Given the description of an element on the screen output the (x, y) to click on. 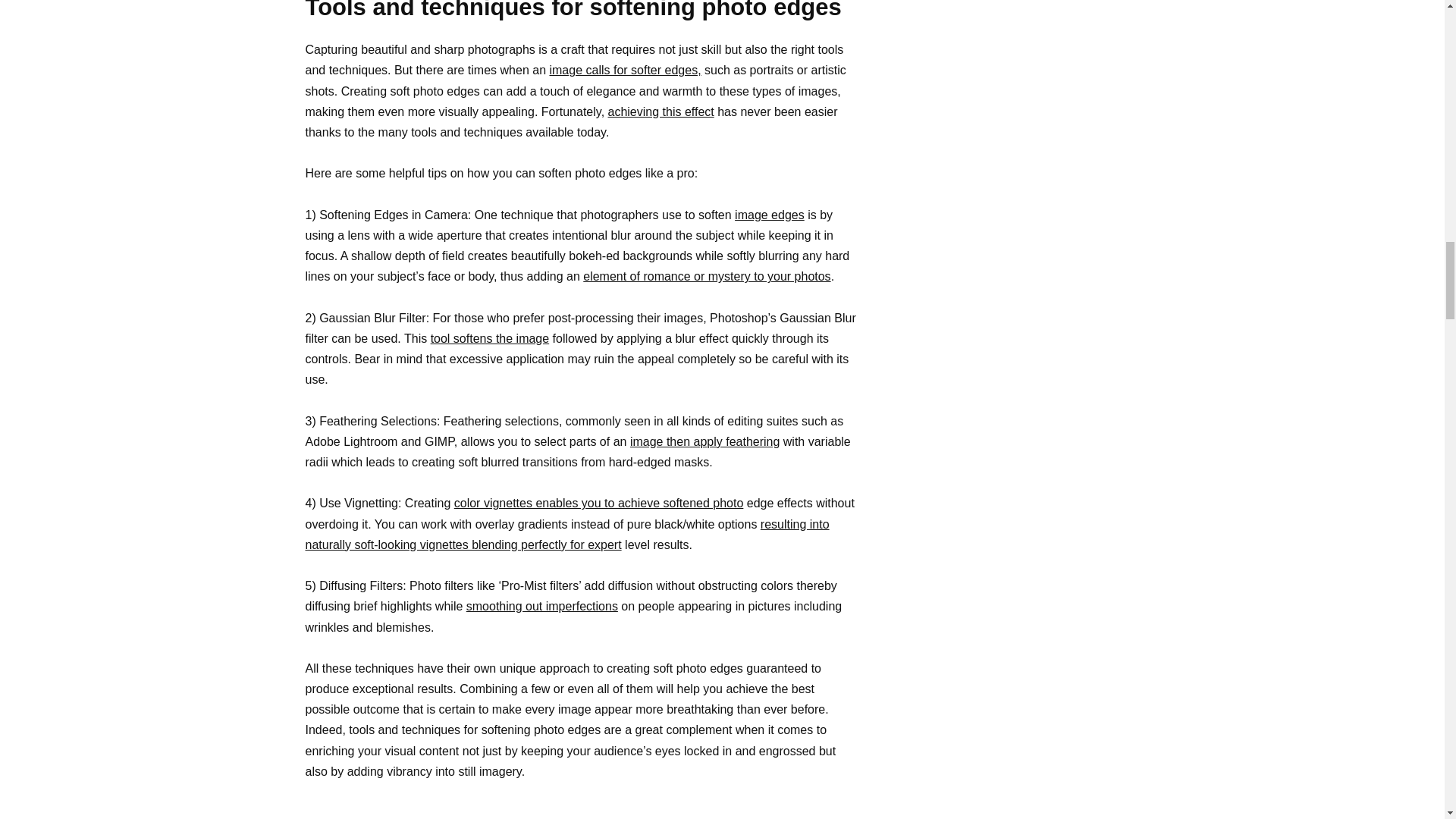
achieving this effect (661, 111)
element of romance or mystery to your photos (706, 276)
image edges (770, 214)
image calls for softer edges, (624, 69)
